Given the description of an element on the screen output the (x, y) to click on. 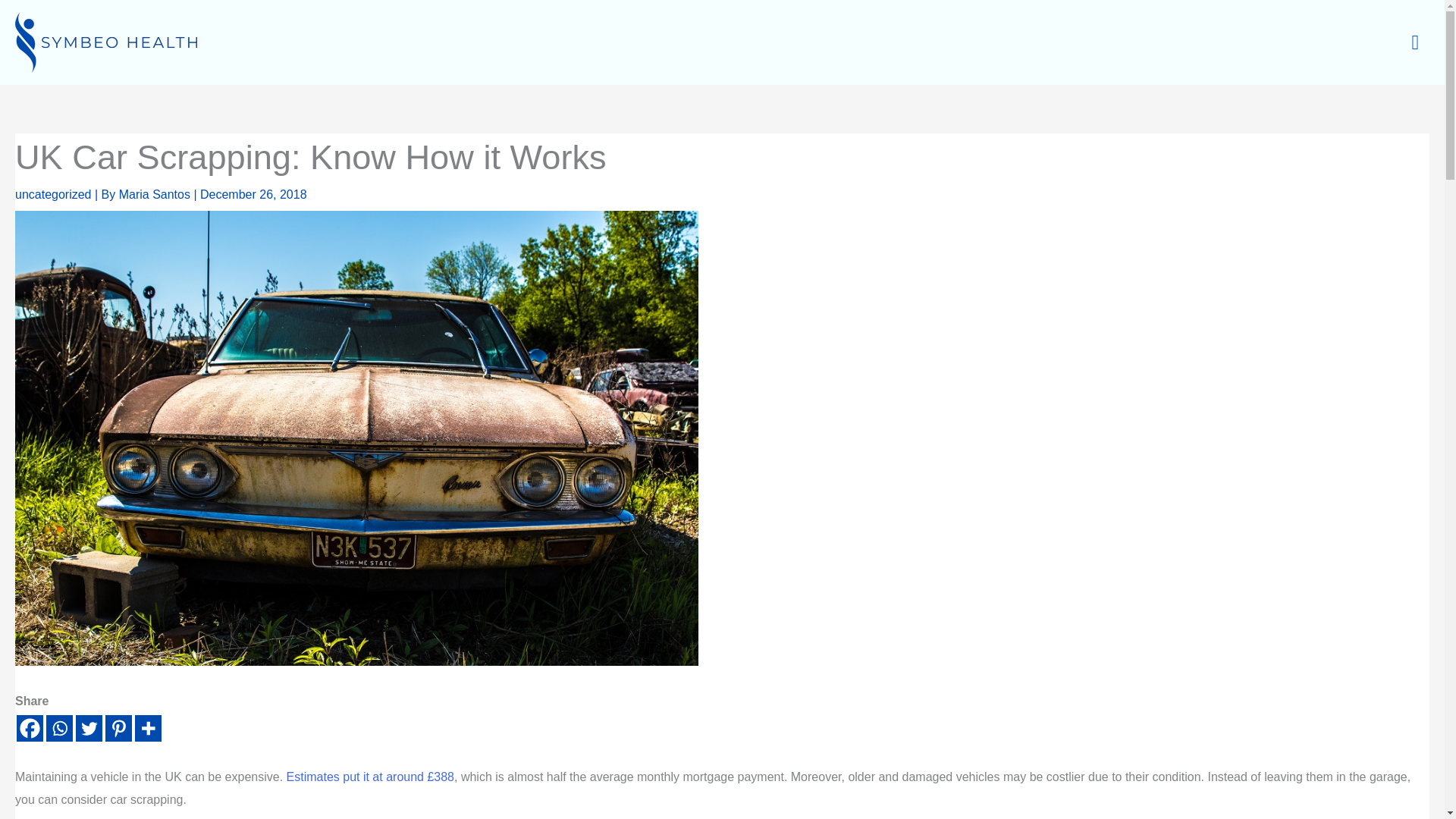
Facebook (29, 728)
Whatsapp (59, 728)
More (148, 728)
Pinterest (118, 728)
Twitter (88, 728)
Motoring Research (370, 776)
uncategorized (52, 194)
Maria Santos (156, 194)
View all posts by Maria Santos (156, 194)
